Given the description of an element on the screen output the (x, y) to click on. 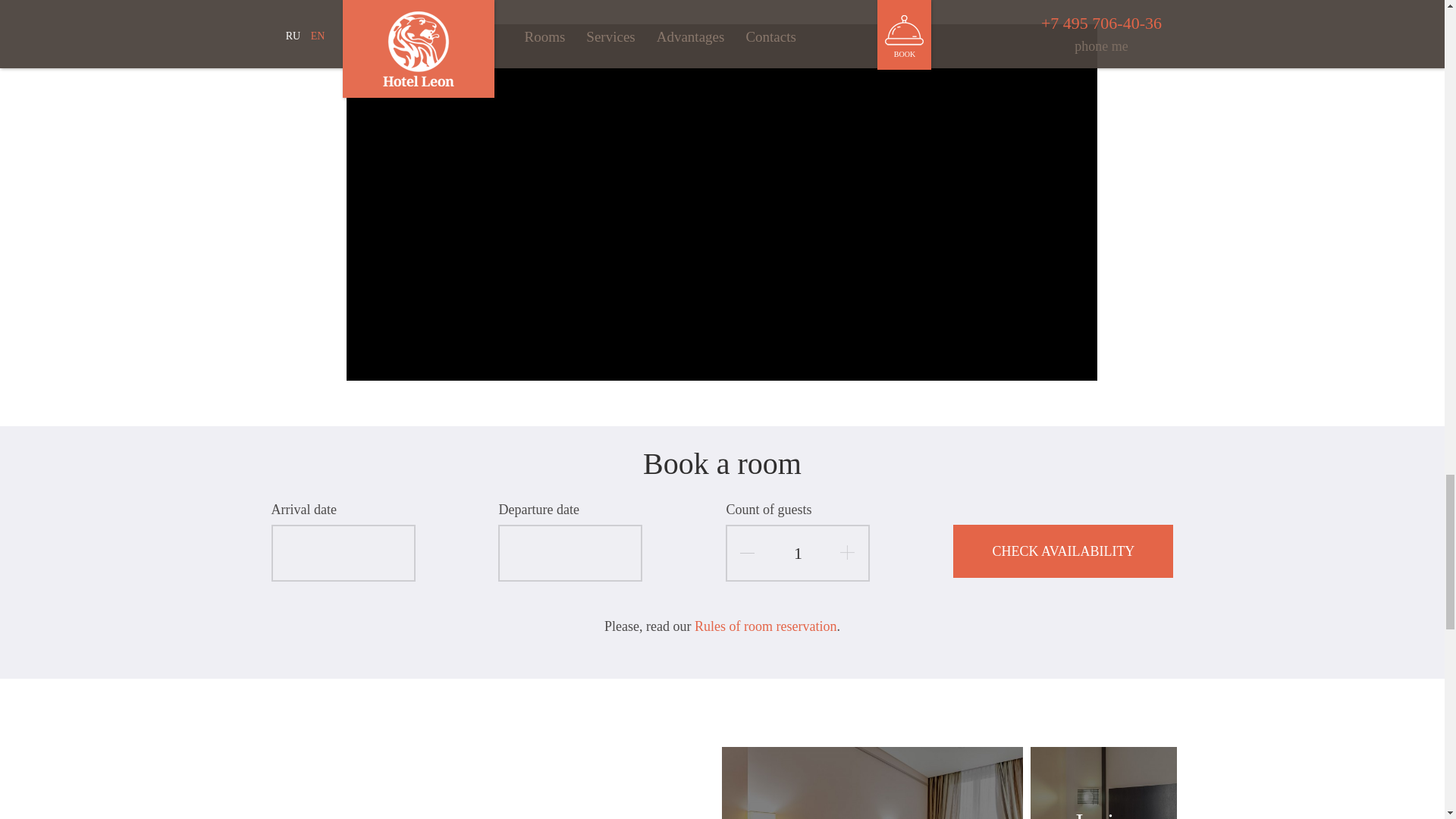
Rules of room reservation (764, 626)
Junior Suite Studio (1103, 782)
1 (797, 552)
Junior Suite (872, 782)
CHECK AVAILABILITY (1063, 551)
